Given the description of an element on the screen output the (x, y) to click on. 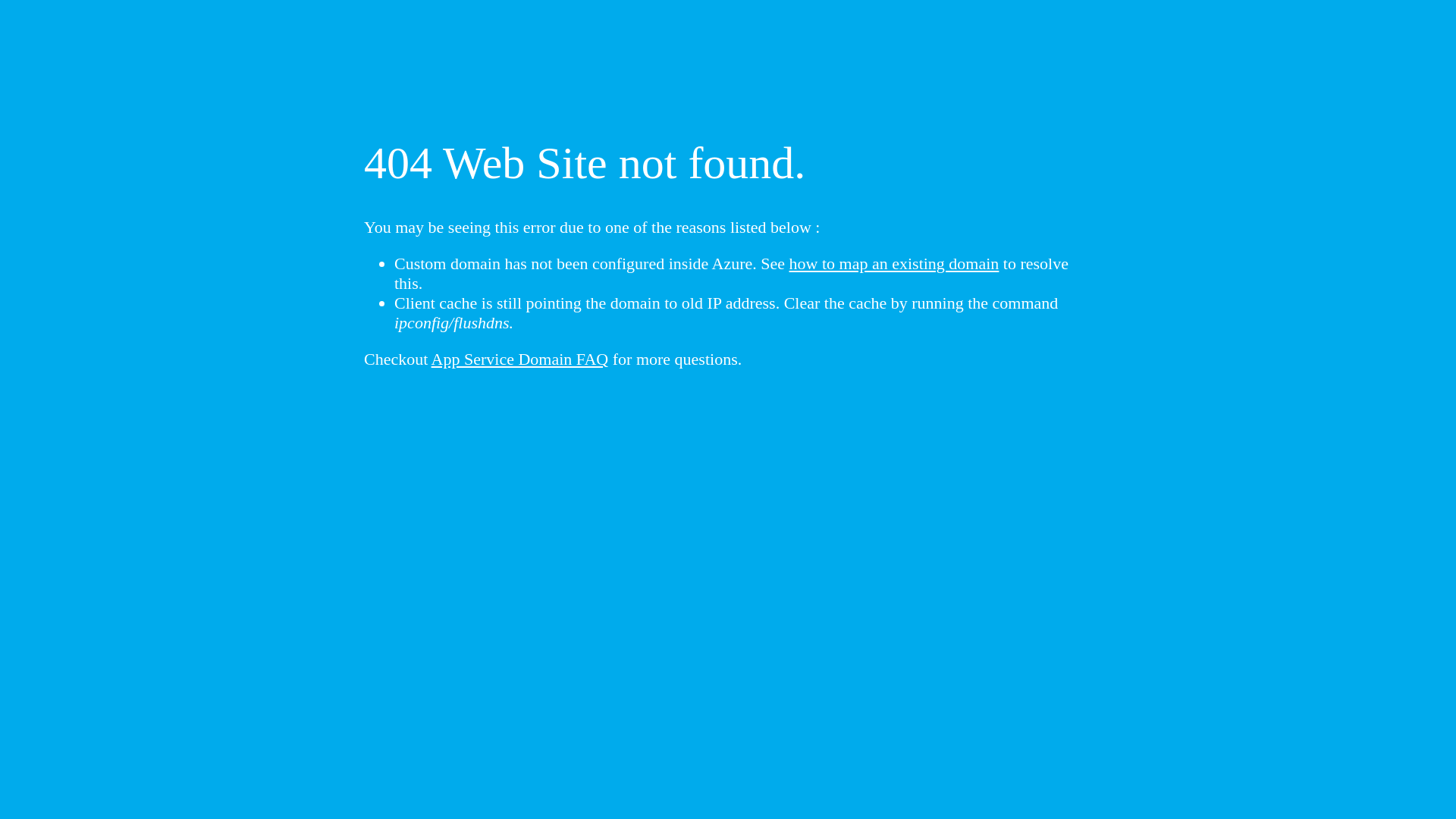
how to map an existing domain Element type: text (894, 263)
App Service Domain FAQ Element type: text (519, 358)
